Given the description of an element on the screen output the (x, y) to click on. 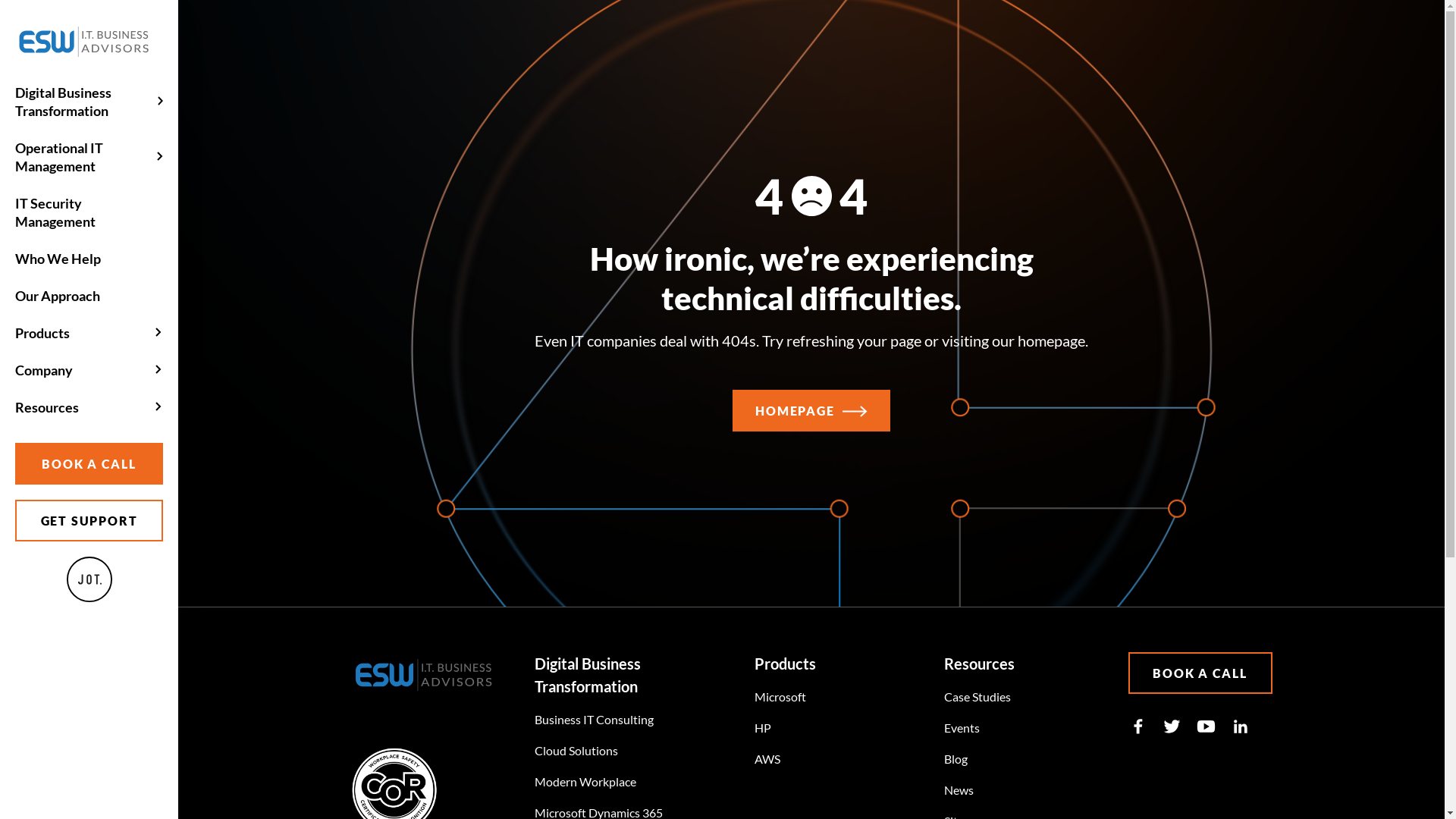
Case Studies Element type: text (977, 696)
Company Element type: text (89, 369)
Events Element type: text (961, 727)
Our Approach Element type: text (89, 295)
HP Element type: text (762, 727)
Modern Workplace Element type: text (585, 781)
Resources Element type: text (89, 407)
Business IT Consulting Element type: text (593, 719)
AWS Element type: text (767, 758)
Who We Help Element type: text (89, 258)
Blog Element type: text (955, 758)
BOOK A CALL Element type: text (1200, 672)
Digital Business Transformation Element type: text (89, 101)
Products Element type: text (89, 332)
BOOK A CALL Element type: text (89, 463)
News Element type: text (958, 789)
IT Security Management Element type: text (89, 212)
Cloud Solutions Element type: text (576, 750)
HOMEPAGE Element type: text (810, 410)
GET SUPPORT Element type: text (89, 520)
Operational IT Management Element type: text (89, 156)
Microsoft Element type: text (780, 696)
